Given the description of an element on the screen output the (x, y) to click on. 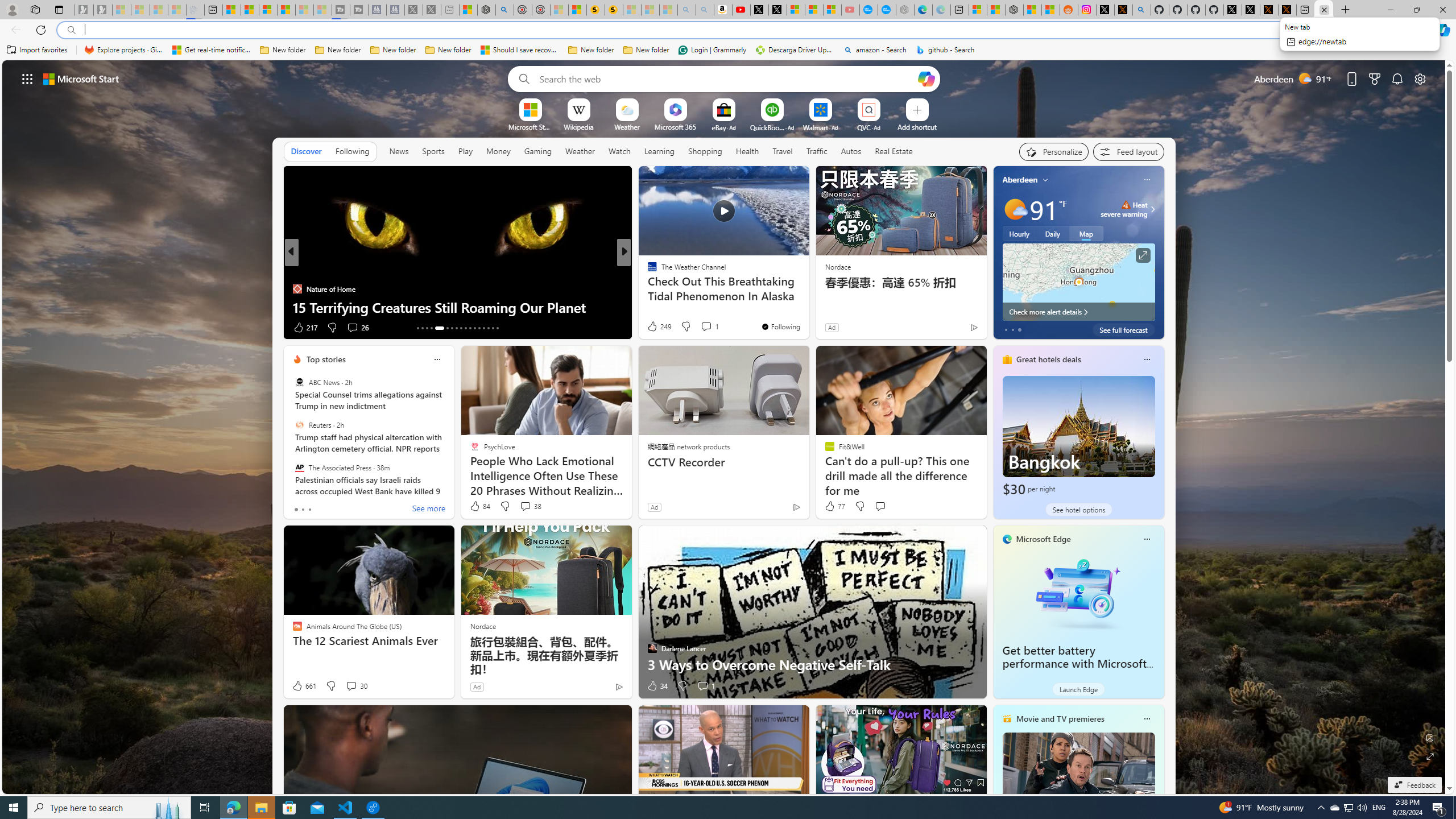
Bolde Media (647, 270)
AutomationID: tab-18 (446, 328)
AutomationID: waffle (27, 78)
606 Like (654, 327)
117 Like (654, 327)
Opinion: Op-Ed and Commentary - USA TODAY (868, 9)
AutomationID: backgroundImagePicture (723, 426)
